Given the description of an element on the screen output the (x, y) to click on. 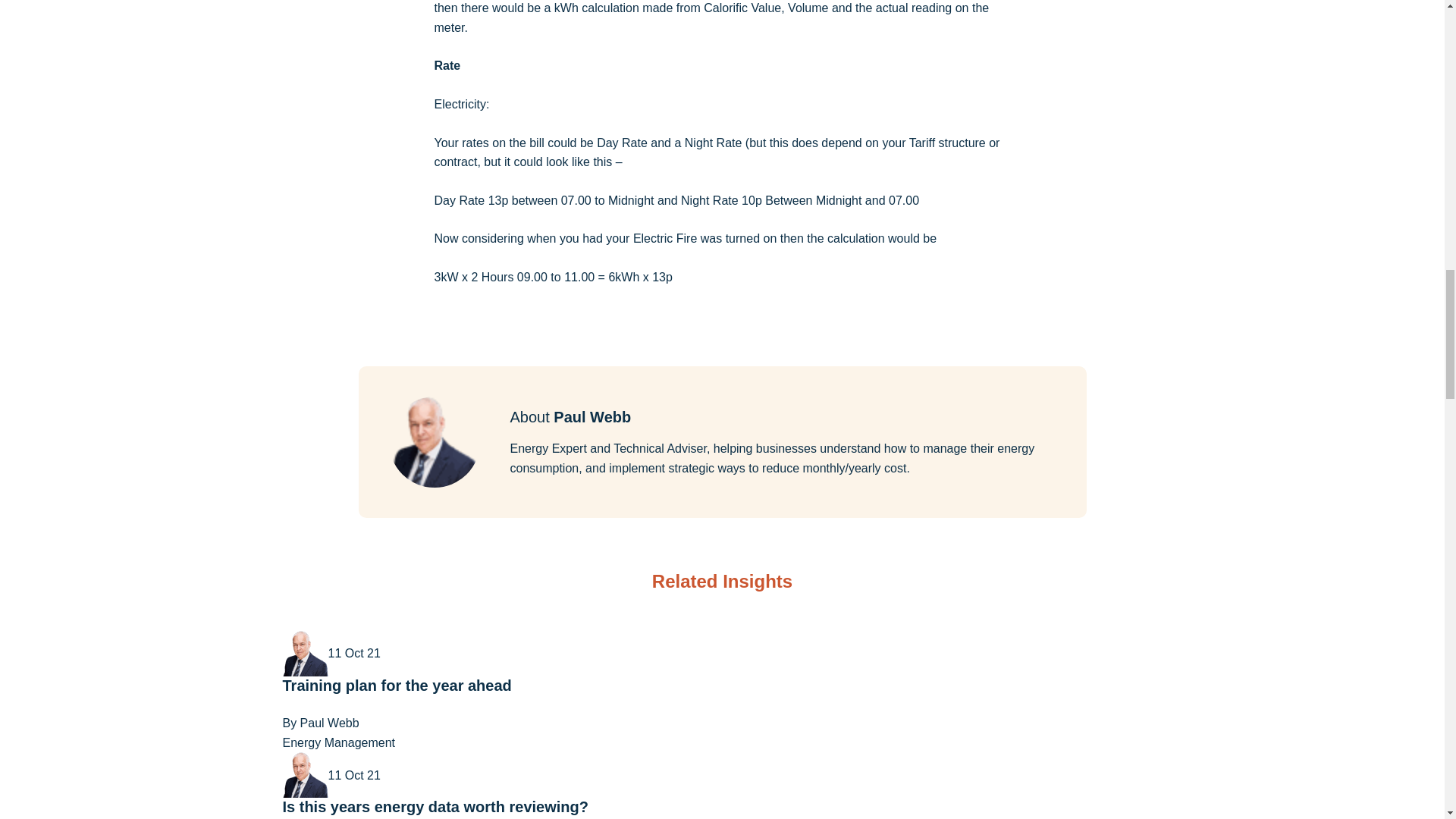
Energy Management (338, 742)
Is this years energy data worth reviewing? (435, 806)
Training plan for the year ahead (396, 685)
